Given the description of an element on the screen output the (x, y) to click on. 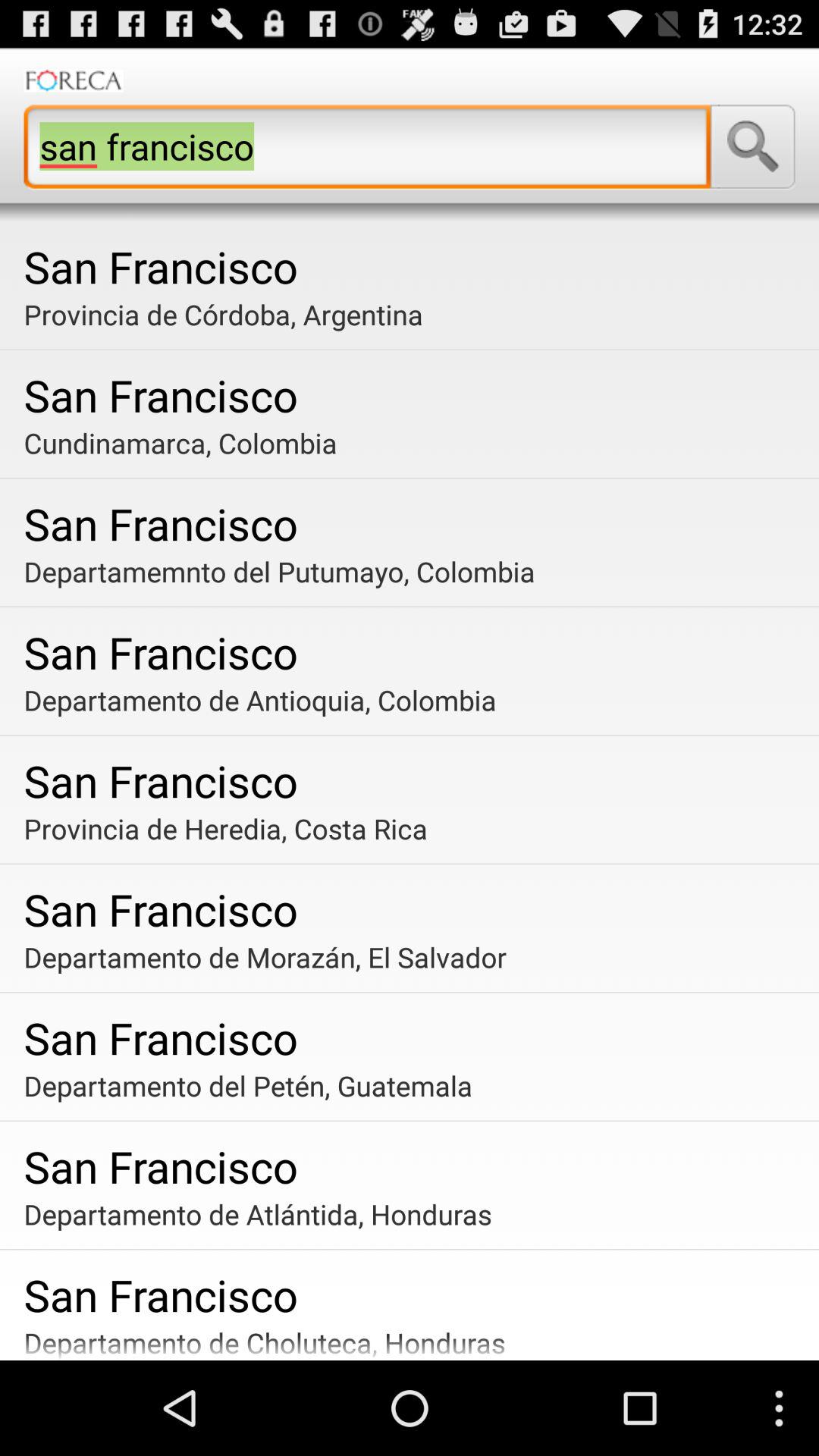
search (752, 146)
